Given the description of an element on the screen output the (x, y) to click on. 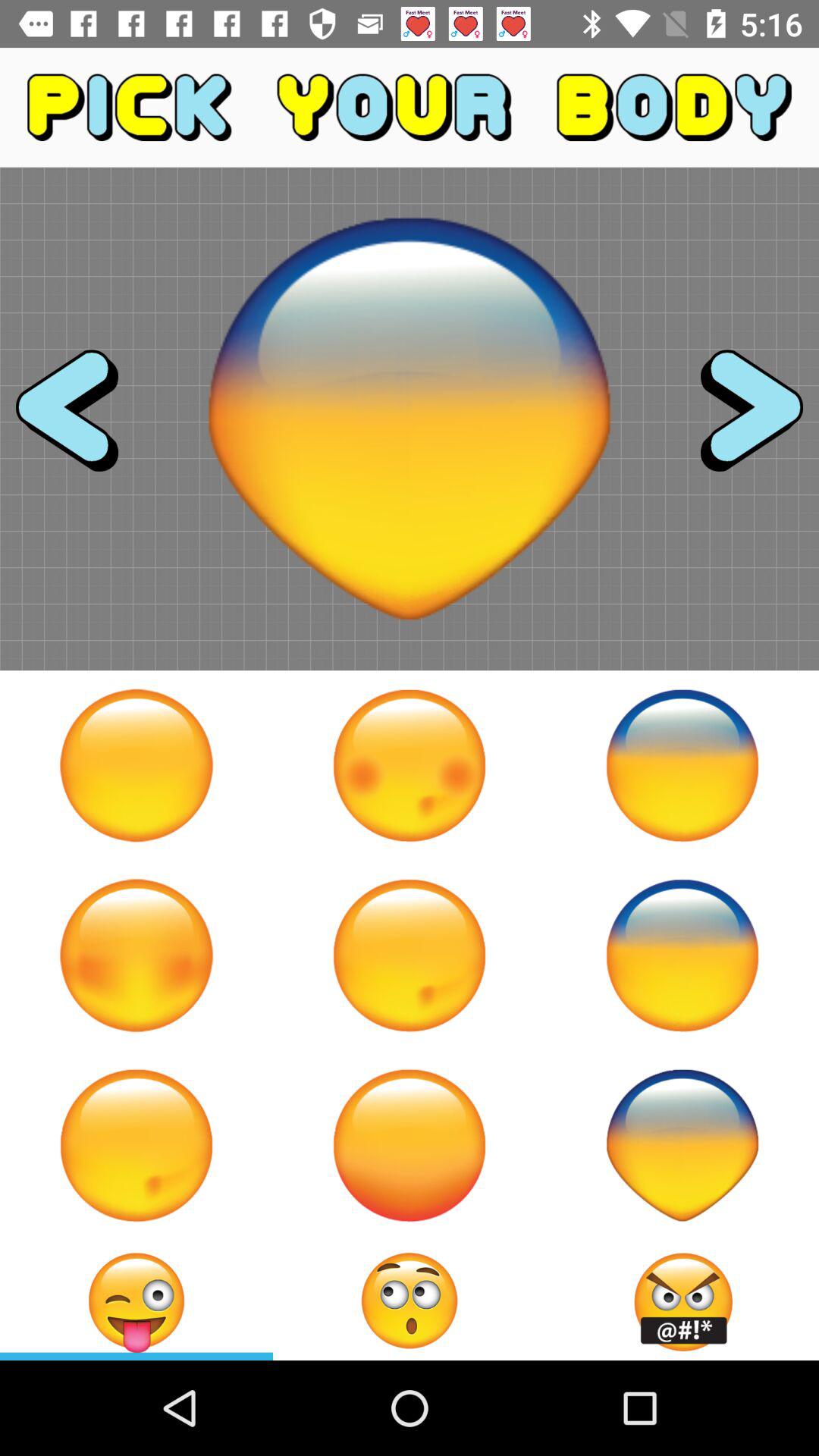
choose an emoji as your body (409, 1300)
